Given the description of an element on the screen output the (x, y) to click on. 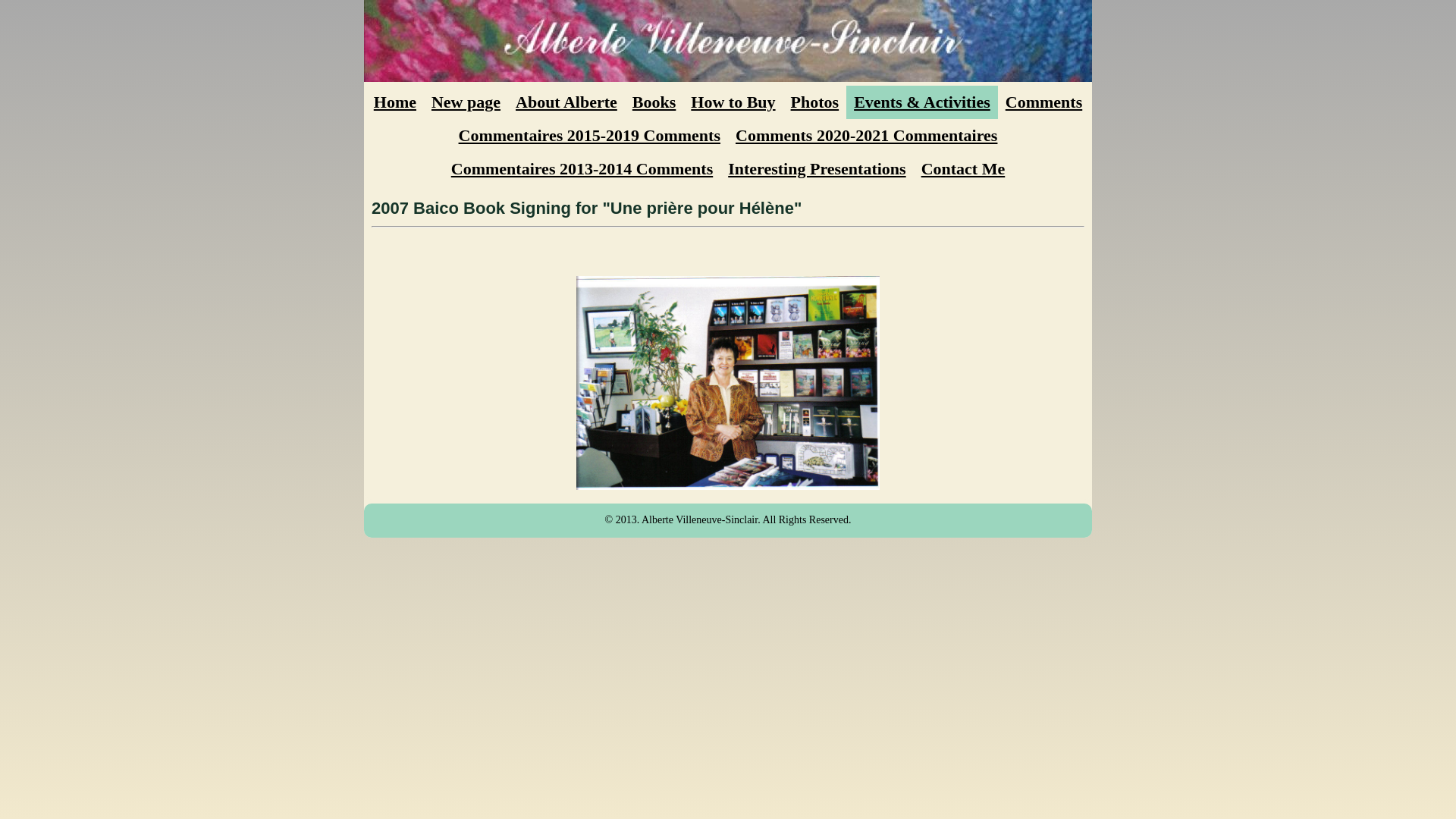
About Alberte Element type: text (566, 102)
Events & Activities Element type: text (921, 102)
Photos Element type: text (815, 102)
How to Buy Element type: text (732, 102)
Commentaires 2013-2014 Comments Element type: text (581, 168)
Commentaires 2015-2019 Comments Element type: text (589, 135)
New page Element type: text (465, 102)
Books Element type: text (653, 102)
Comments Element type: text (1043, 102)
Interesting Presentations Element type: text (816, 168)
Comments 2020-2021 Commentaires Element type: text (866, 135)
Home Element type: text (394, 102)
Contact Me Element type: text (963, 168)
